Given the description of an element on the screen output the (x, y) to click on. 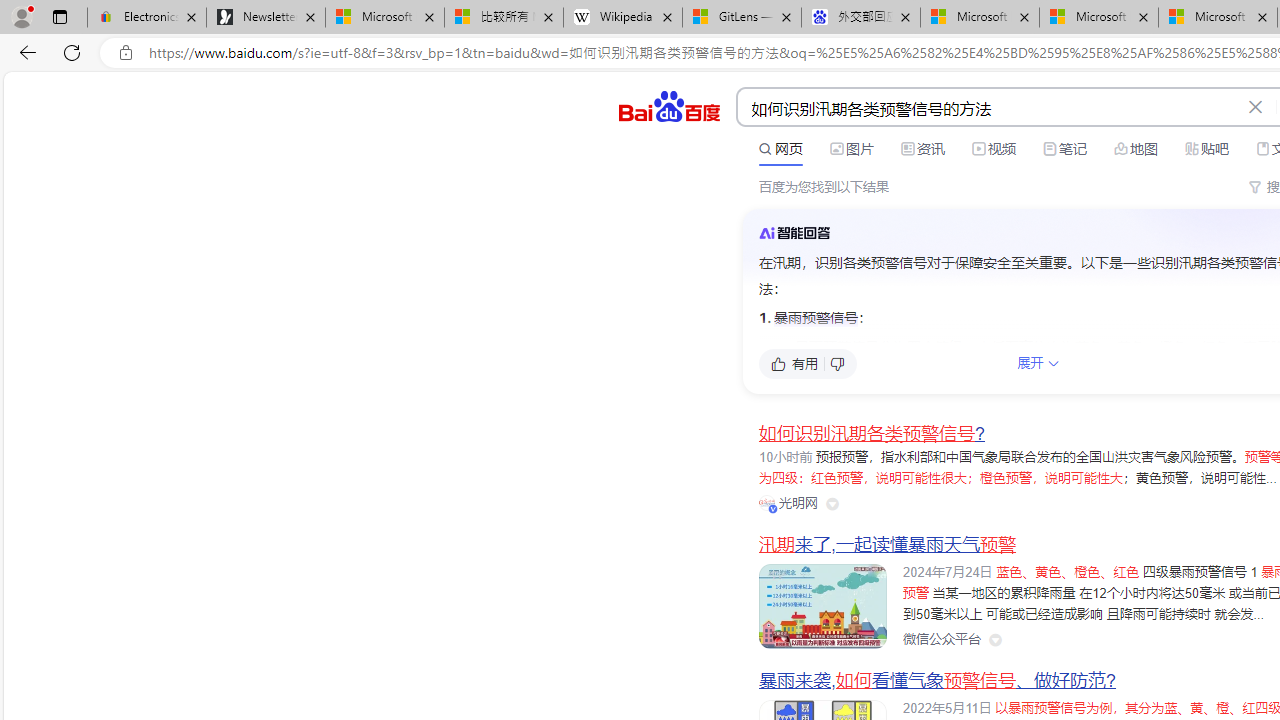
AutomationID: kw (989, 107)
